Given the description of an element on the screen output the (x, y) to click on. 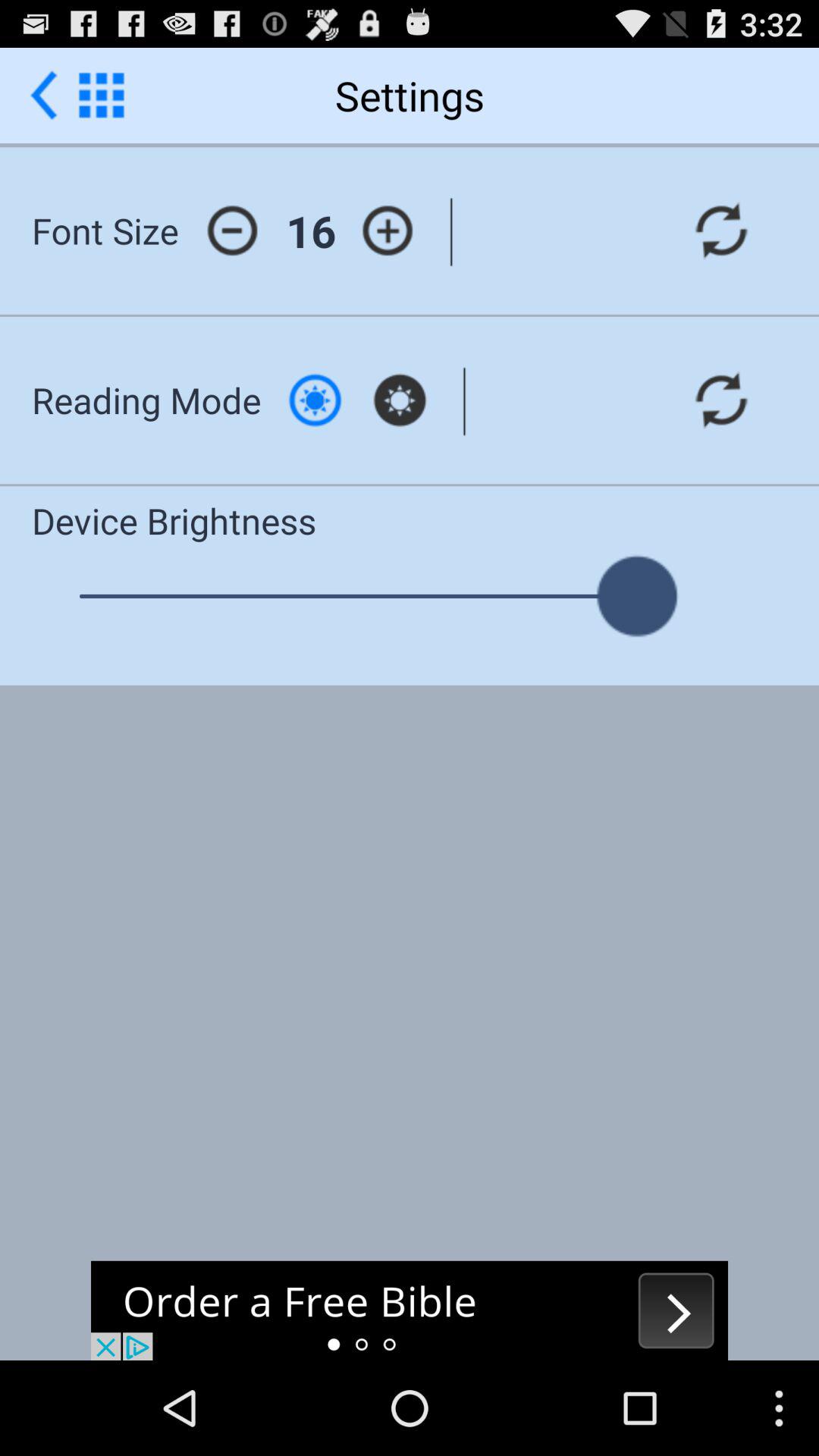
refresh option (721, 399)
